Given the description of an element on the screen output the (x, y) to click on. 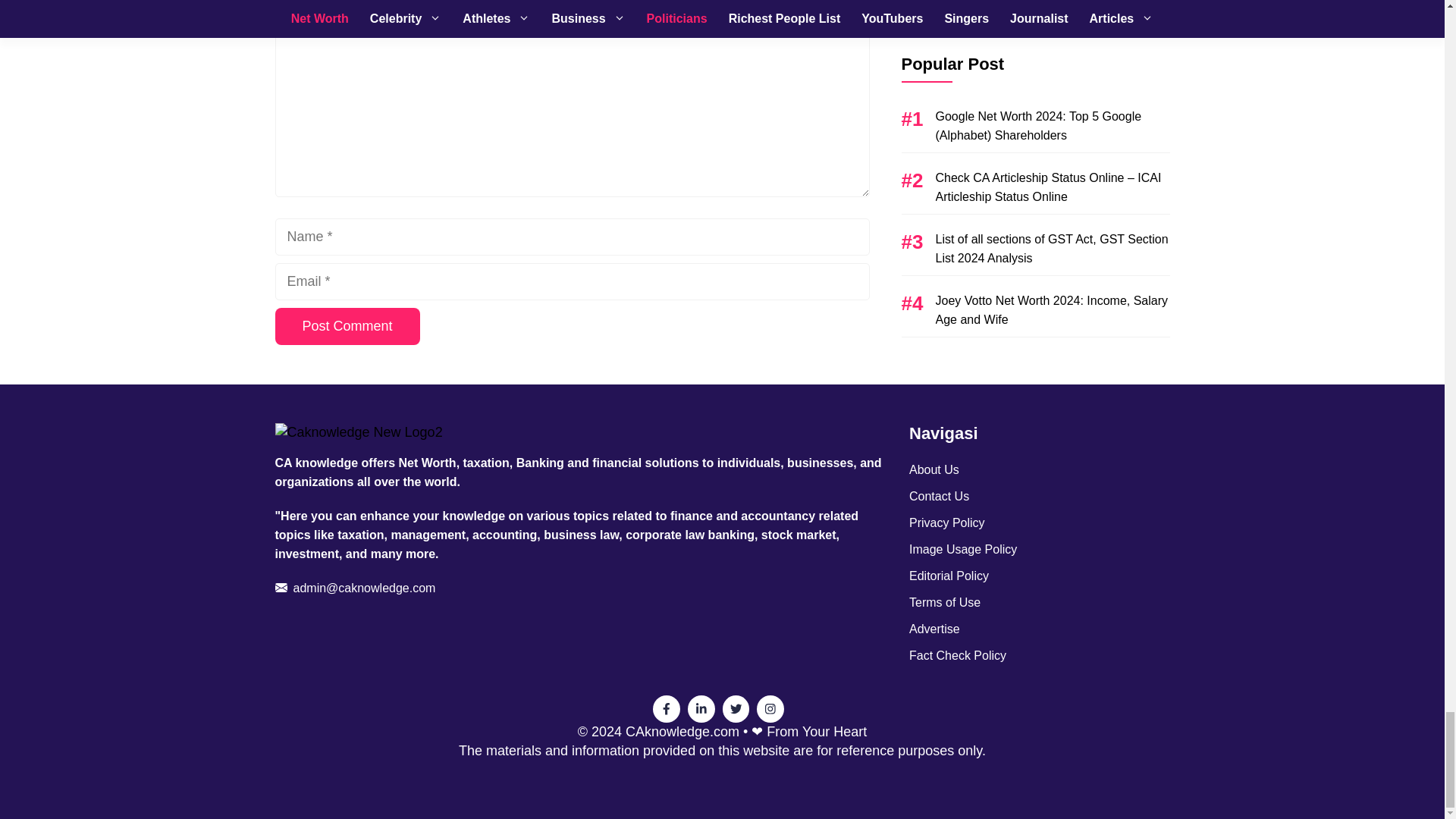
Post Comment (347, 325)
